Given the description of an element on the screen output the (x, y) to click on. 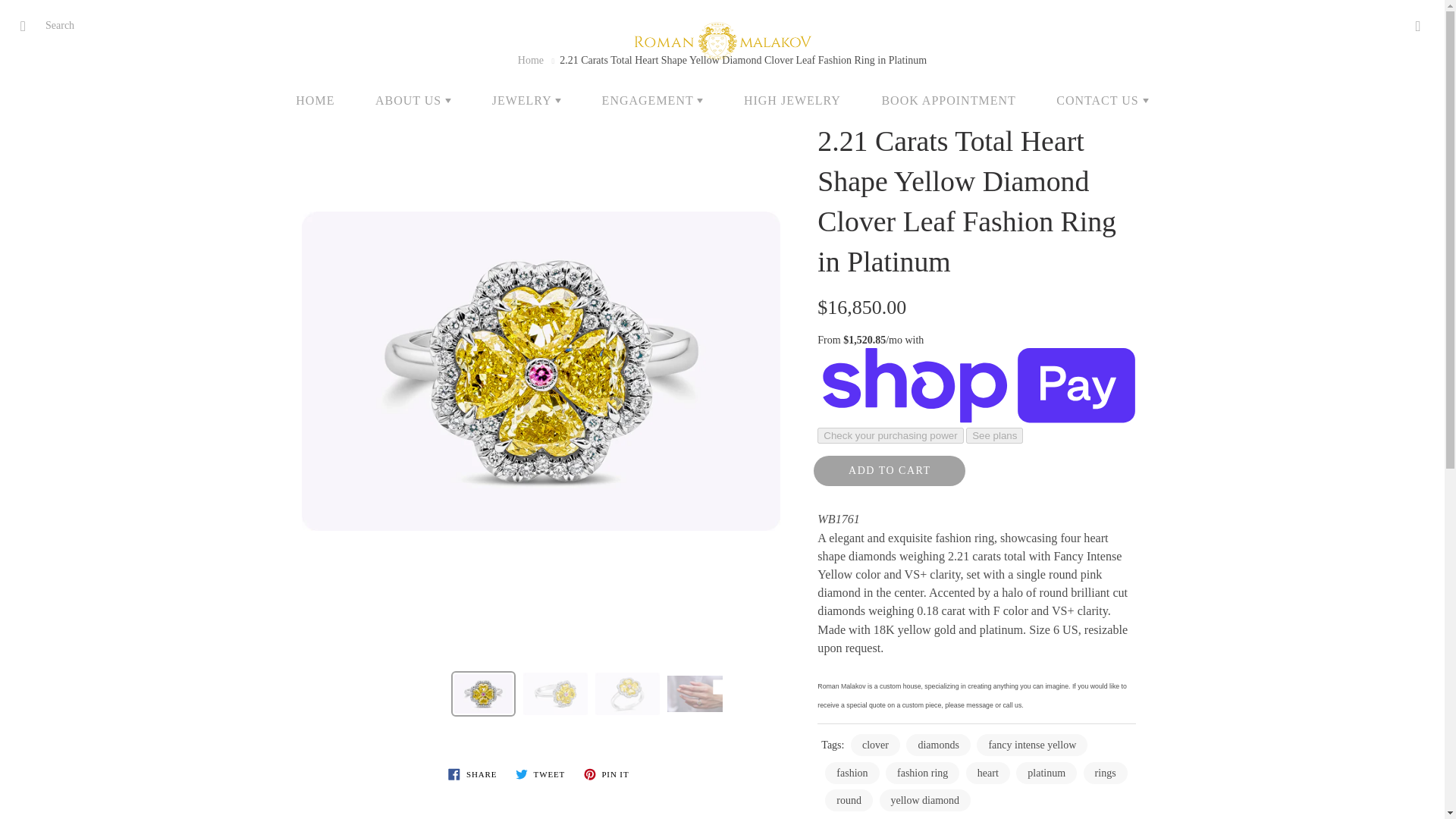
BOOK APPOINTMENT (947, 100)
Search (28, 26)
HOME (314, 100)
ENGAGEMENT (652, 100)
ABOUT US (413, 100)
Home (530, 60)
form (60, 25)
You have 0 items in your cart (1417, 26)
HIGH JEWELRY (792, 100)
CONTACT US (1101, 100)
JEWELRY (526, 100)
